Given the description of an element on the screen output the (x, y) to click on. 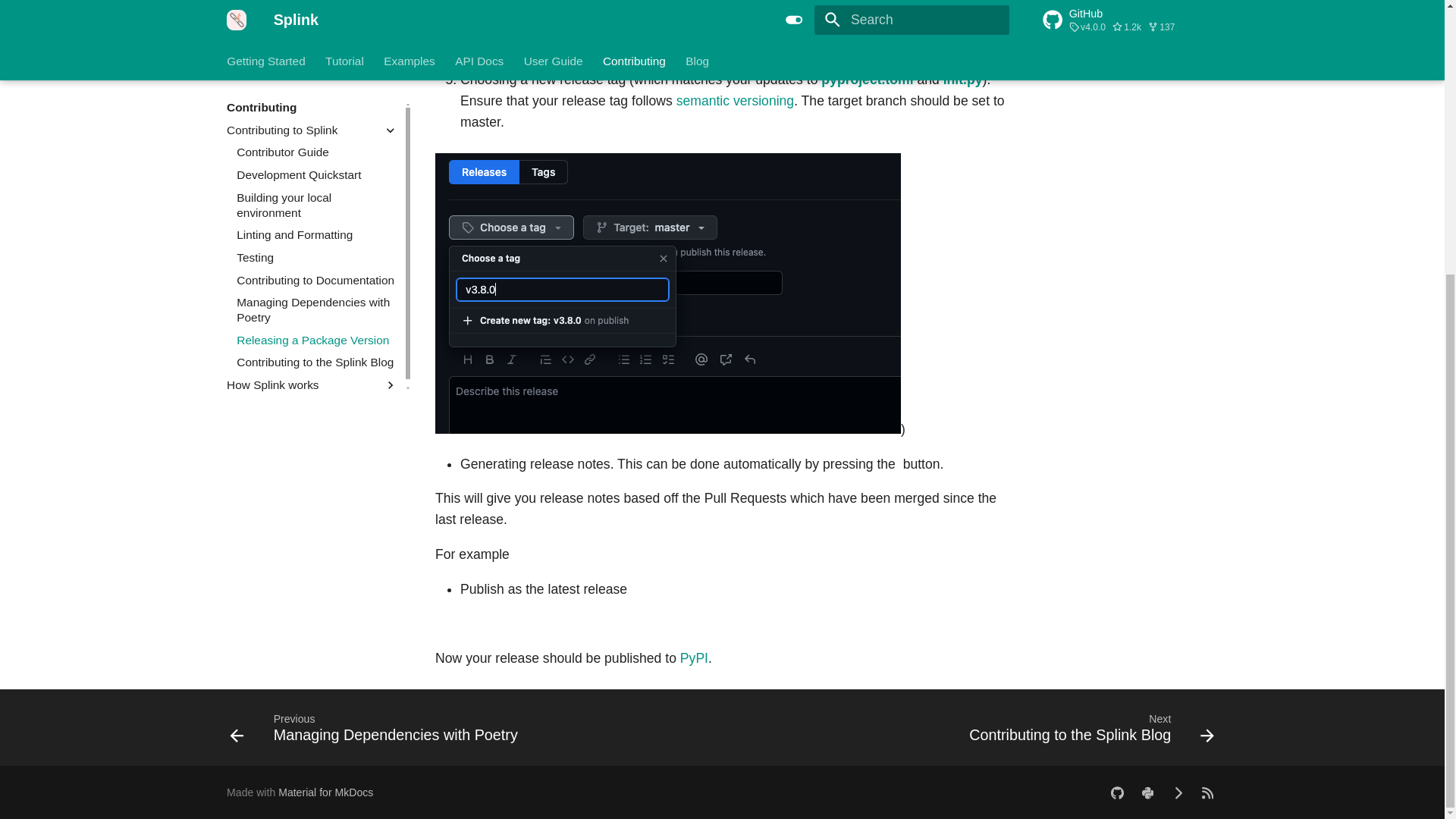
www.robinlinacre.com (1177, 791)
moj-analytical-services.github.io (1207, 791)
github.com (1117, 791)
pypi.org (1147, 791)
